Given the description of an element on the screen output the (x, y) to click on. 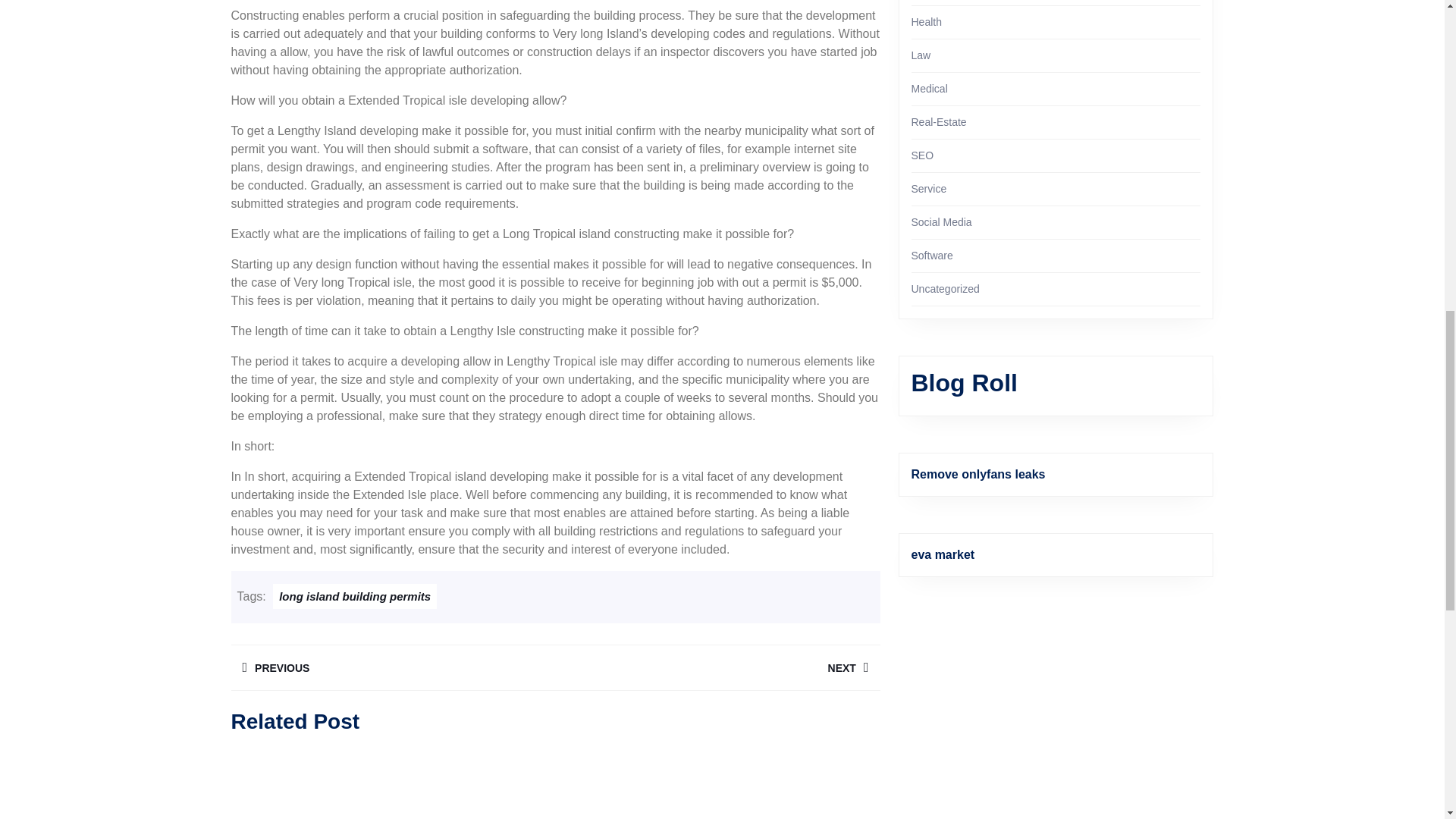
long island building permits (392, 667)
